Given the description of an element on the screen output the (x, y) to click on. 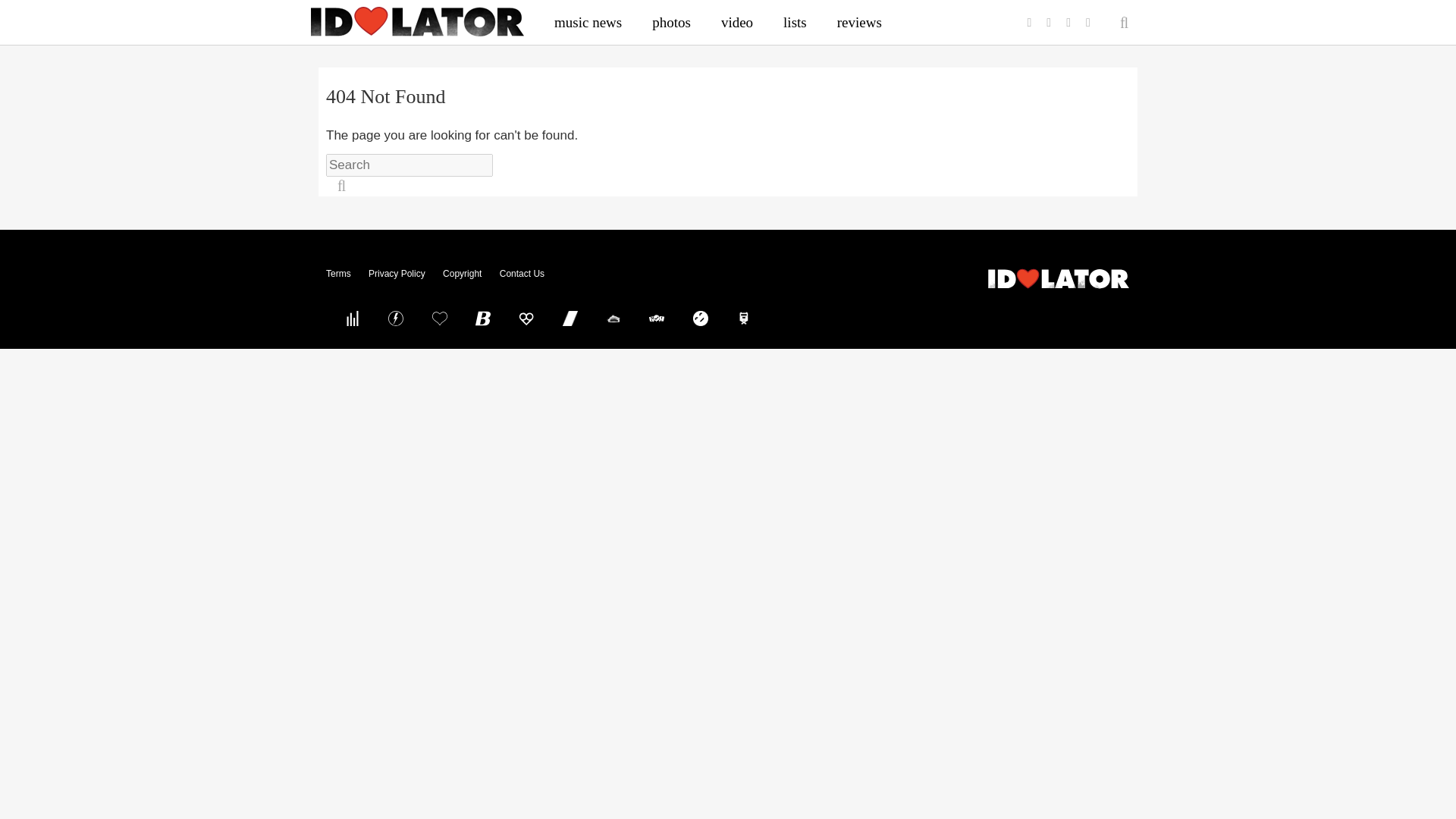
Post Fun (439, 318)
photos (671, 22)
lists (795, 22)
Pure Volume (351, 318)
Hooch (526, 318)
video (737, 22)
Privacy Policy (396, 273)
Explored Hollywood (743, 318)
Buzznet (395, 318)
Taco Relish (612, 318)
